Given the description of an element on the screen output the (x, y) to click on. 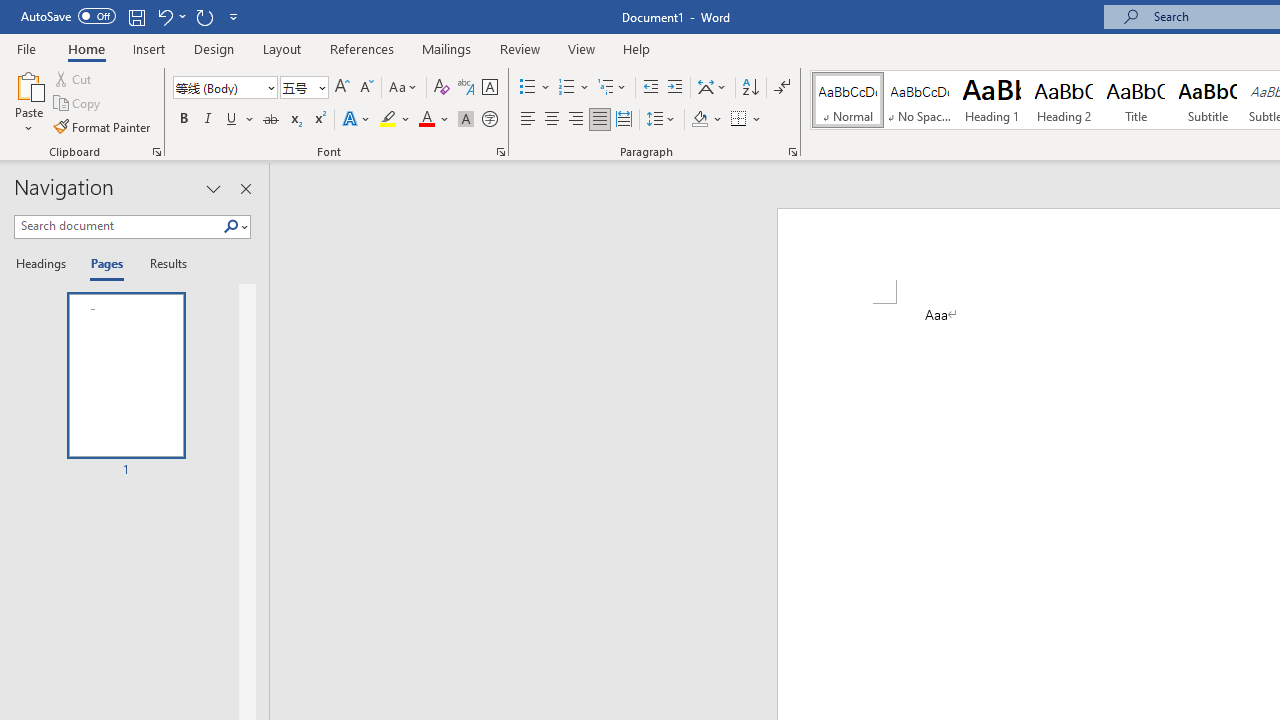
Undo Increase Indent (170, 15)
